Given the description of an element on the screen output the (x, y) to click on. 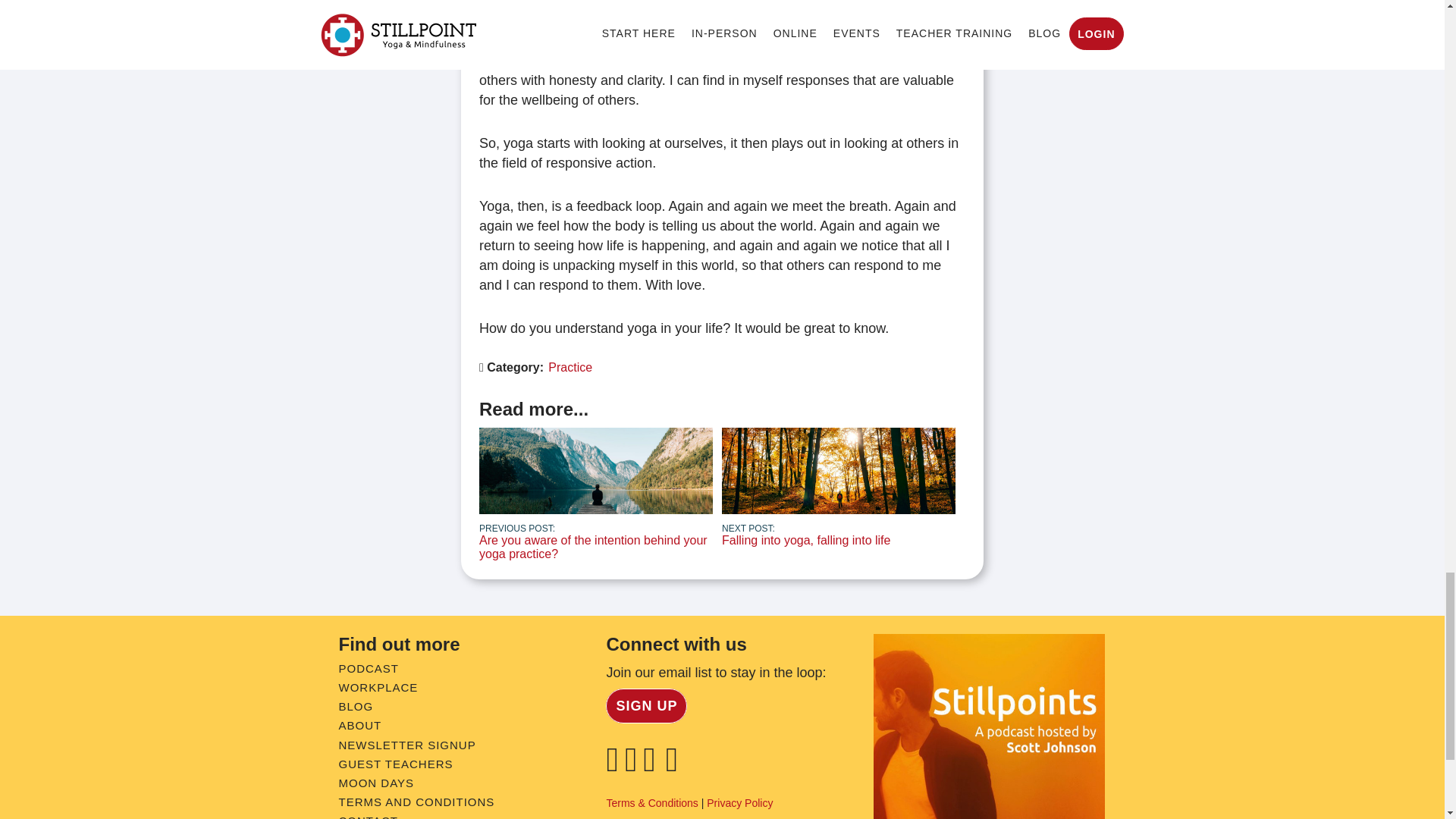
Follow us on Facebook (614, 766)
WORKPLACE (377, 686)
PODCAST (367, 667)
MOON DAYS (375, 782)
Privacy Policy (739, 802)
Subscribe on Youtube (674, 766)
SIGN UP (646, 705)
BLOG (354, 706)
CONTACT (367, 816)
ABOUT (359, 725)
TERMS AND CONDITIONS (416, 801)
GUEST TEACHERS (394, 763)
Follow us on Twitter (652, 766)
NEWSLETTER SIGNUP (406, 744)
